Given the description of an element on the screen output the (x, y) to click on. 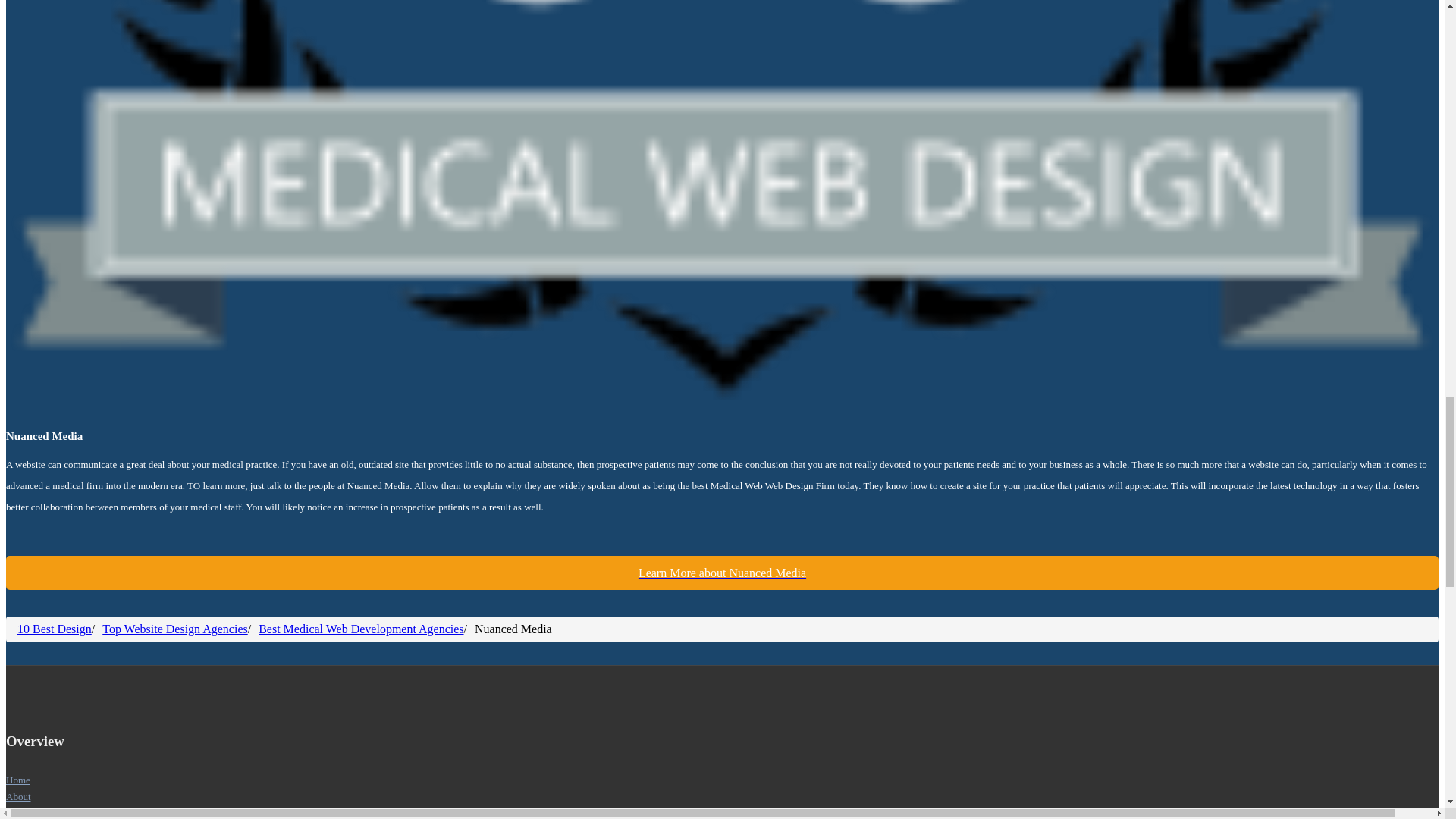
Nuanced Media (721, 572)
